Given the description of an element on the screen output the (x, y) to click on. 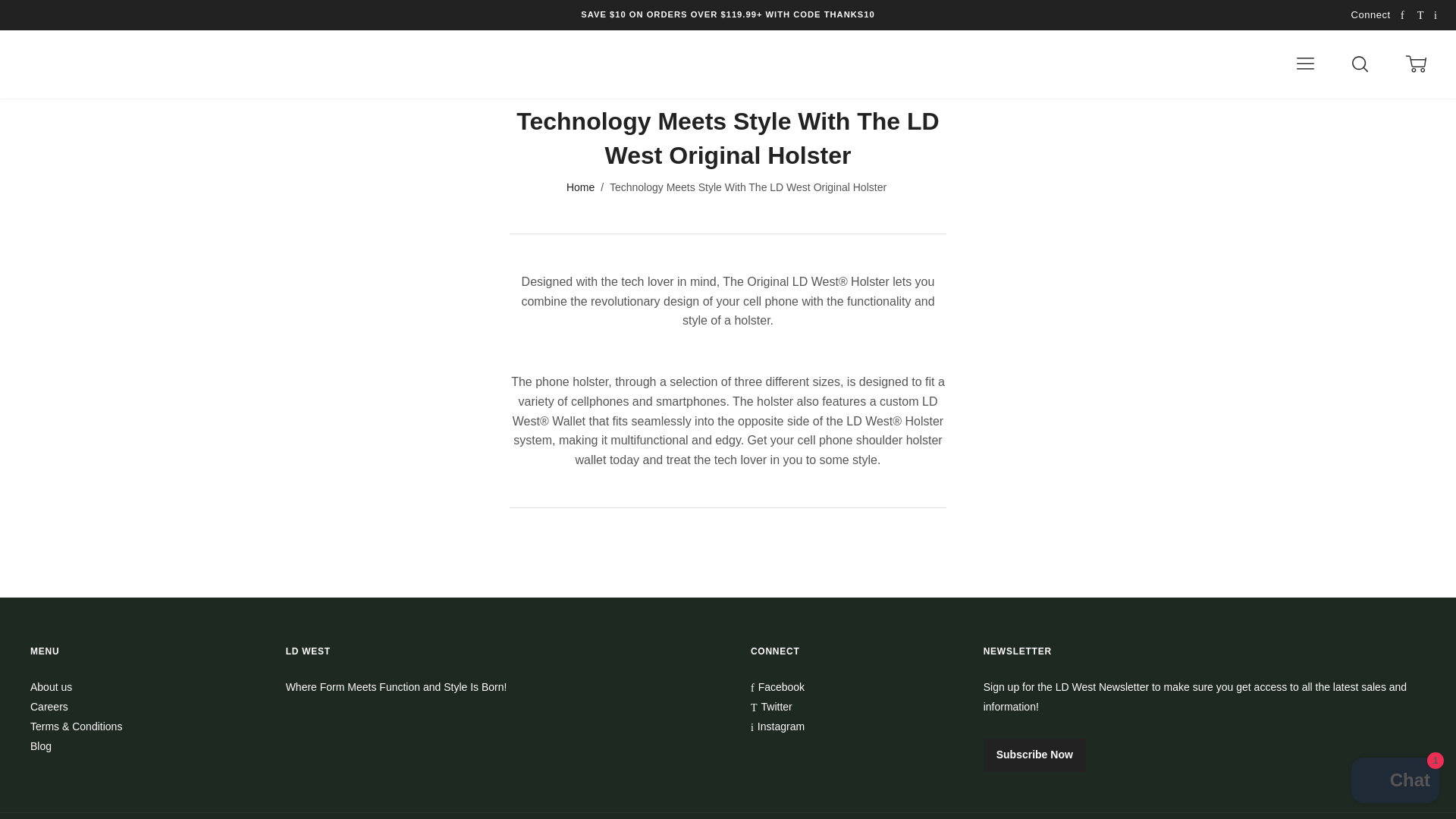
Back to the frontpage (580, 187)
Shopify online store chat (1395, 781)
